Given the description of an element on the screen output the (x, y) to click on. 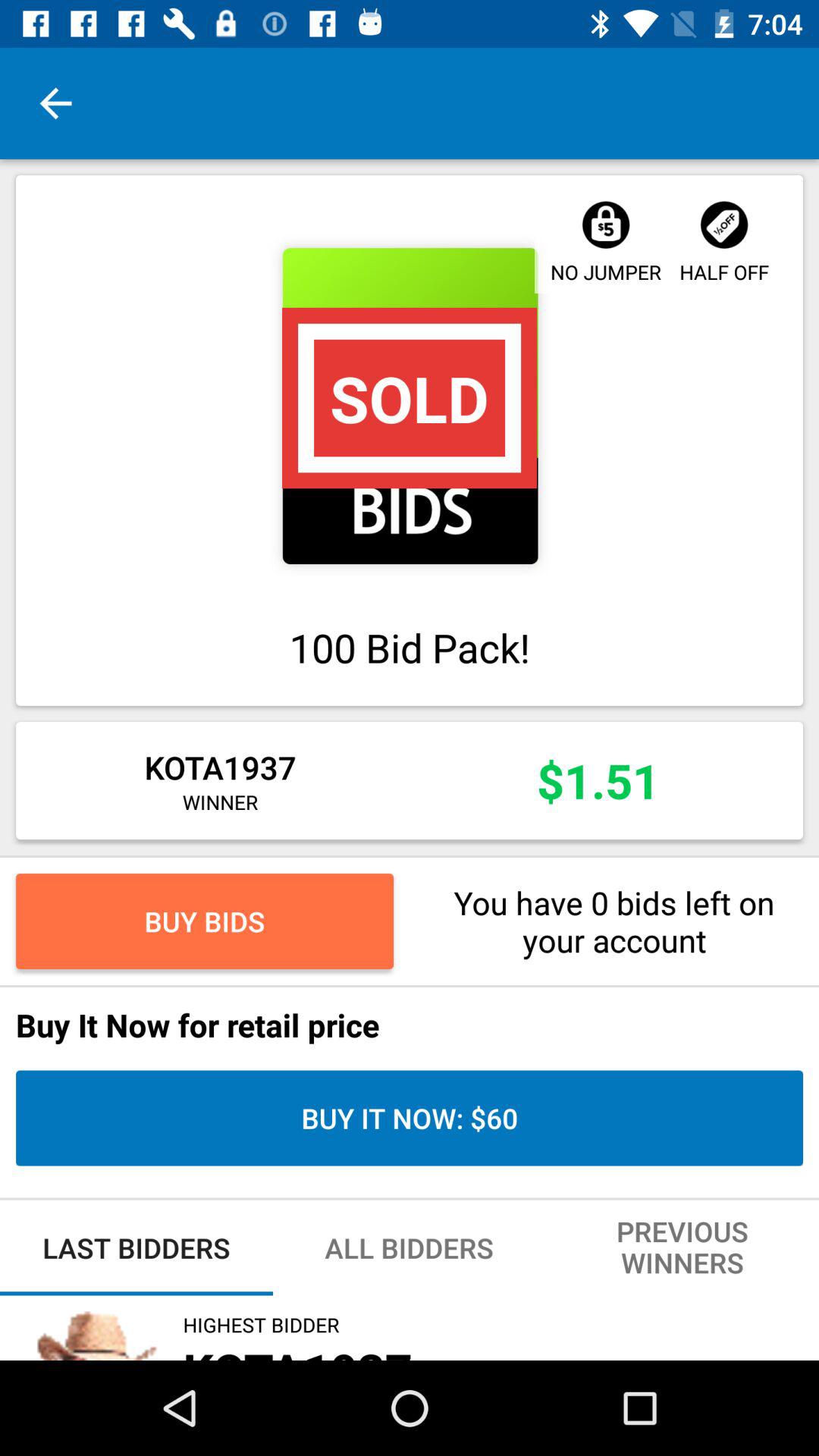
tap the item at the top left corner (55, 103)
